Given the description of an element on the screen output the (x, y) to click on. 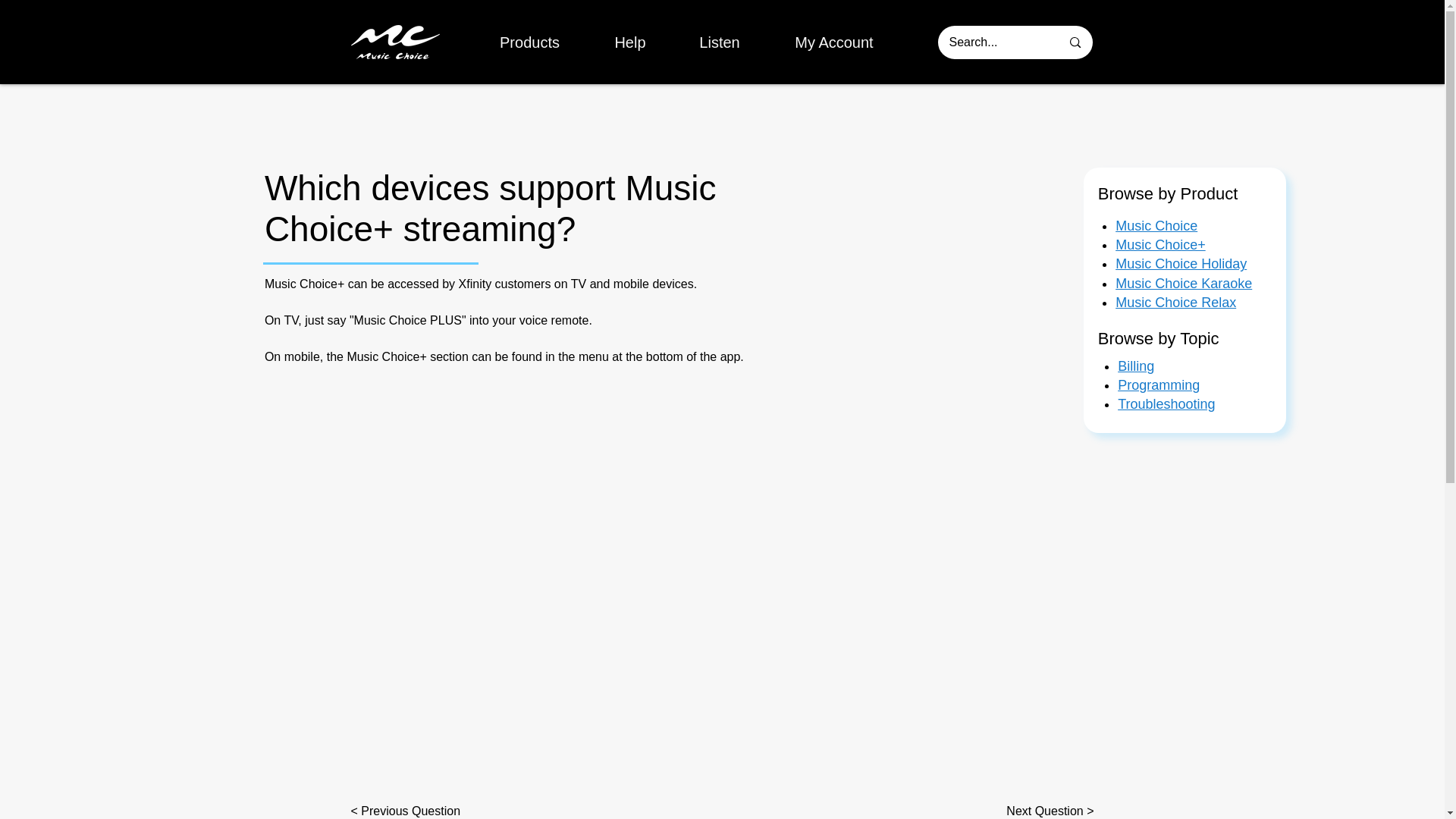
My Account (833, 42)
Listen (719, 42)
Troubleshooting (1166, 403)
Music Choice Holiday (1180, 263)
Music Choice Relax (1175, 302)
Music Choice Karaoke (1183, 283)
Programming (1158, 385)
Help (629, 42)
Music Choice (1155, 225)
Billing (1136, 365)
